Given the description of an element on the screen output the (x, y) to click on. 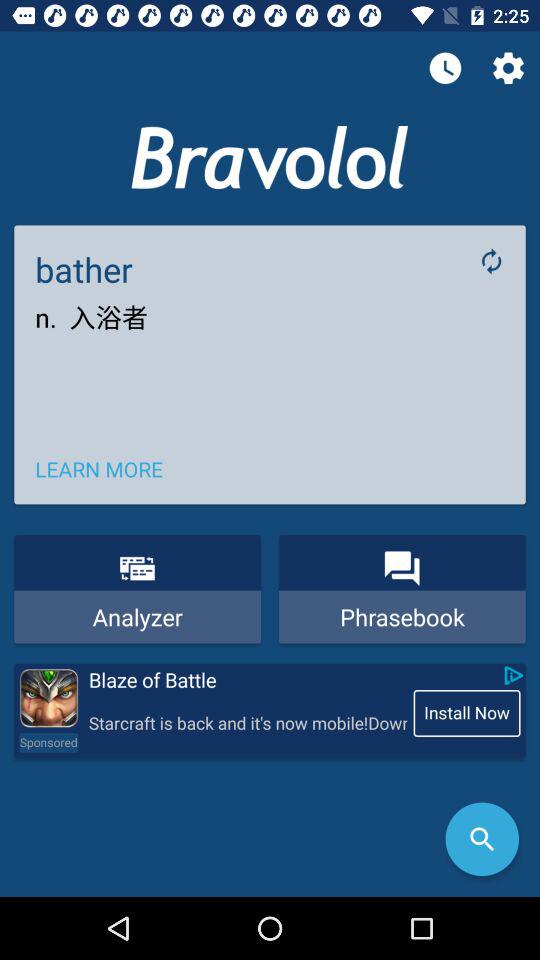
jump to blaze of battle (245, 680)
